Given the description of an element on the screen output the (x, y) to click on. 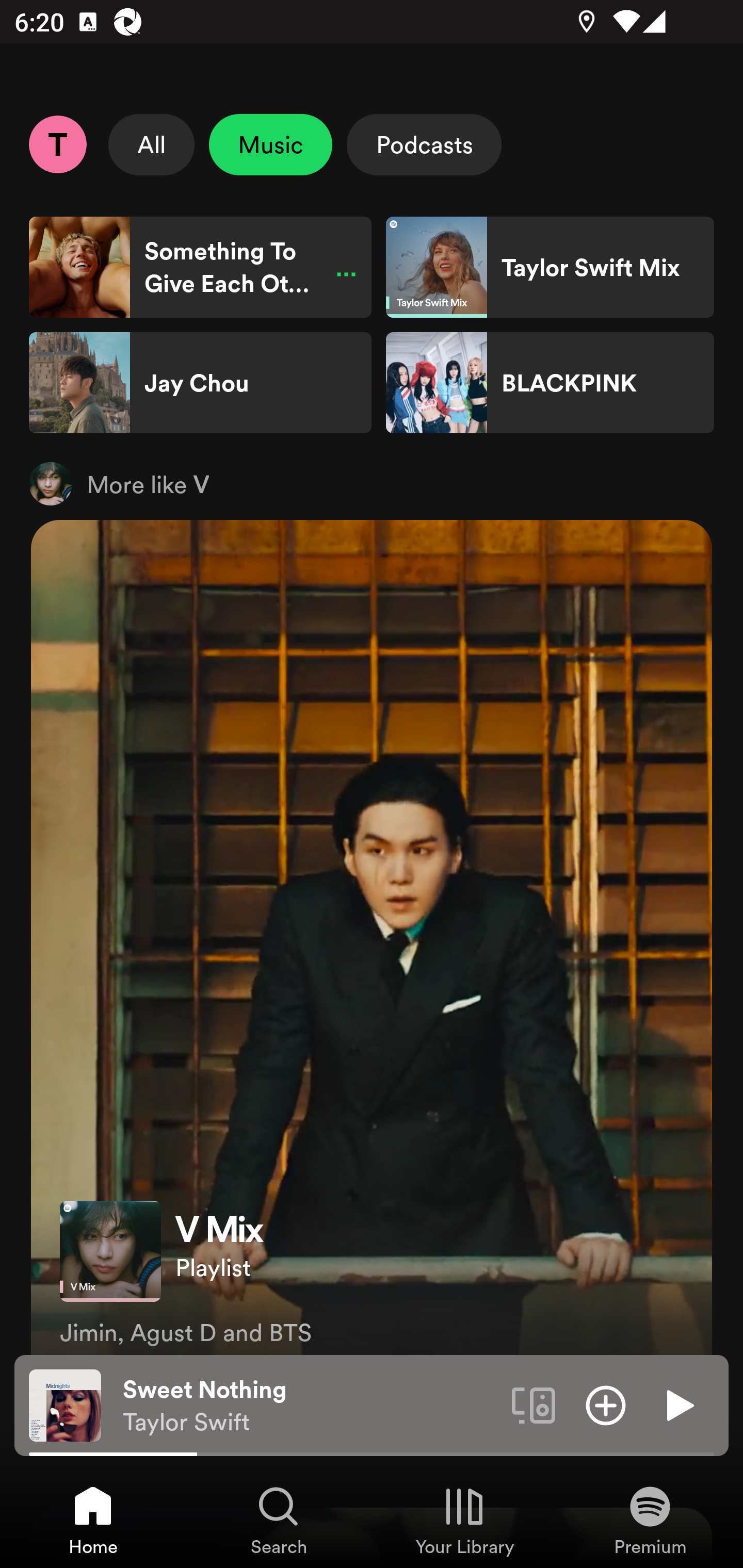
Profile (57, 144)
All Select All (151, 144)
Music Unselect Music (270, 144)
Podcasts Select Podcasts (423, 144)
Taylor Swift Mix Shortcut Taylor Swift Mix (549, 267)
Jay Chou Shortcut Jay Chou (199, 382)
BLACKPINK Shortcut BLACKPINK (549, 382)
More like V (371, 483)
Sweet Nothing Taylor Swift (309, 1405)
The cover art of the currently playing track (64, 1404)
Connect to a device. Opens the devices menu (533, 1404)
Add item (605, 1404)
Play (677, 1404)
Home, Tab 1 of 4 Home Home (92, 1519)
Search, Tab 2 of 4 Search Search (278, 1519)
Your Library, Tab 3 of 4 Your Library Your Library (464, 1519)
Premium, Tab 4 of 4 Premium Premium (650, 1519)
